Given the description of an element on the screen output the (x, y) to click on. 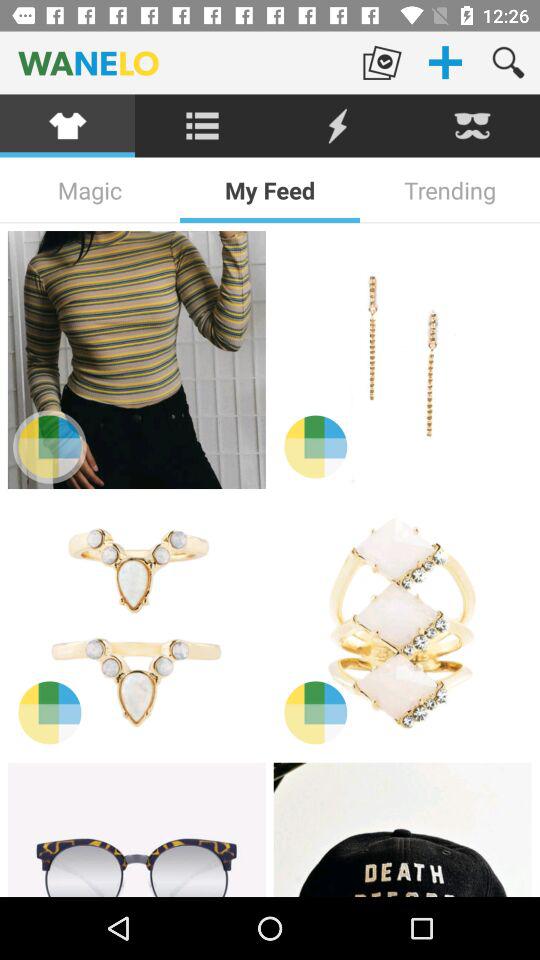
press the wanelo (175, 62)
